Given the description of an element on the screen output the (x, y) to click on. 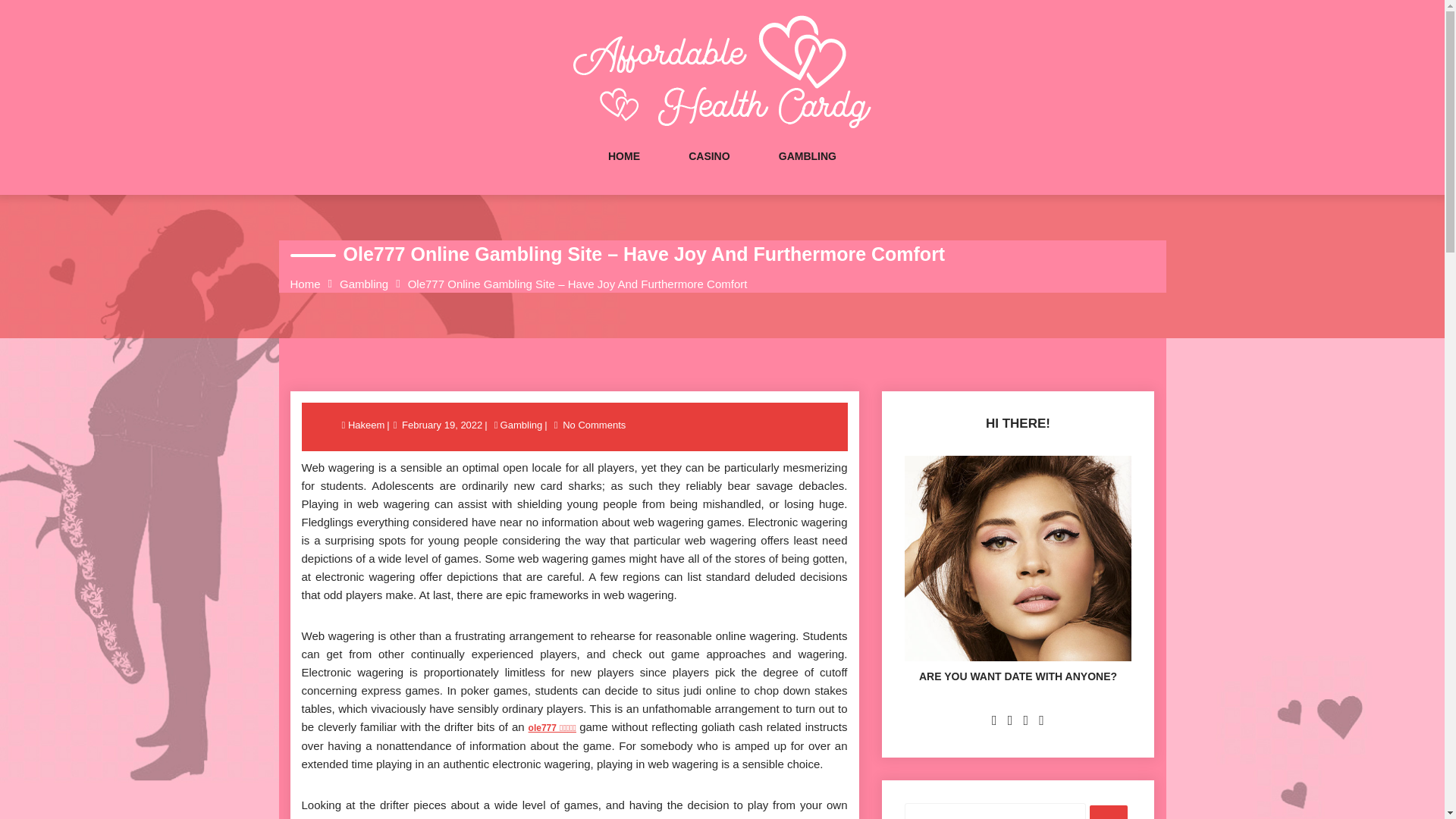
GAMBLING (806, 171)
Gambling (363, 283)
Home (304, 283)
No Comments (593, 424)
Hakeem (367, 424)
Search (1107, 812)
Gambling (520, 424)
February 19, 2022 (441, 424)
CASINO (708, 171)
